Given the description of an element on the screen output the (x, y) to click on. 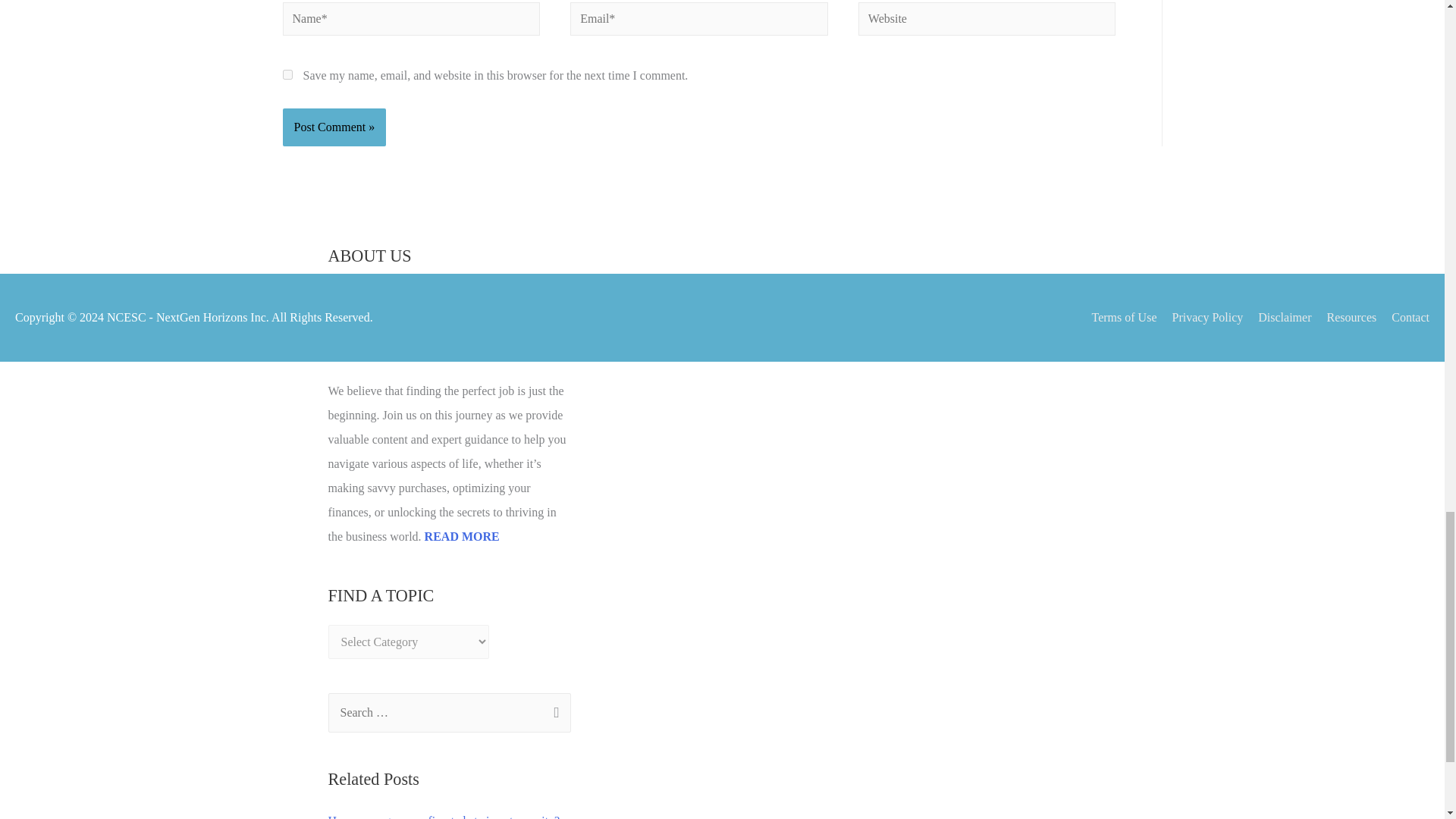
Search (553, 713)
Search (553, 713)
yes (287, 74)
